Given the description of an element on the screen output the (x, y) to click on. 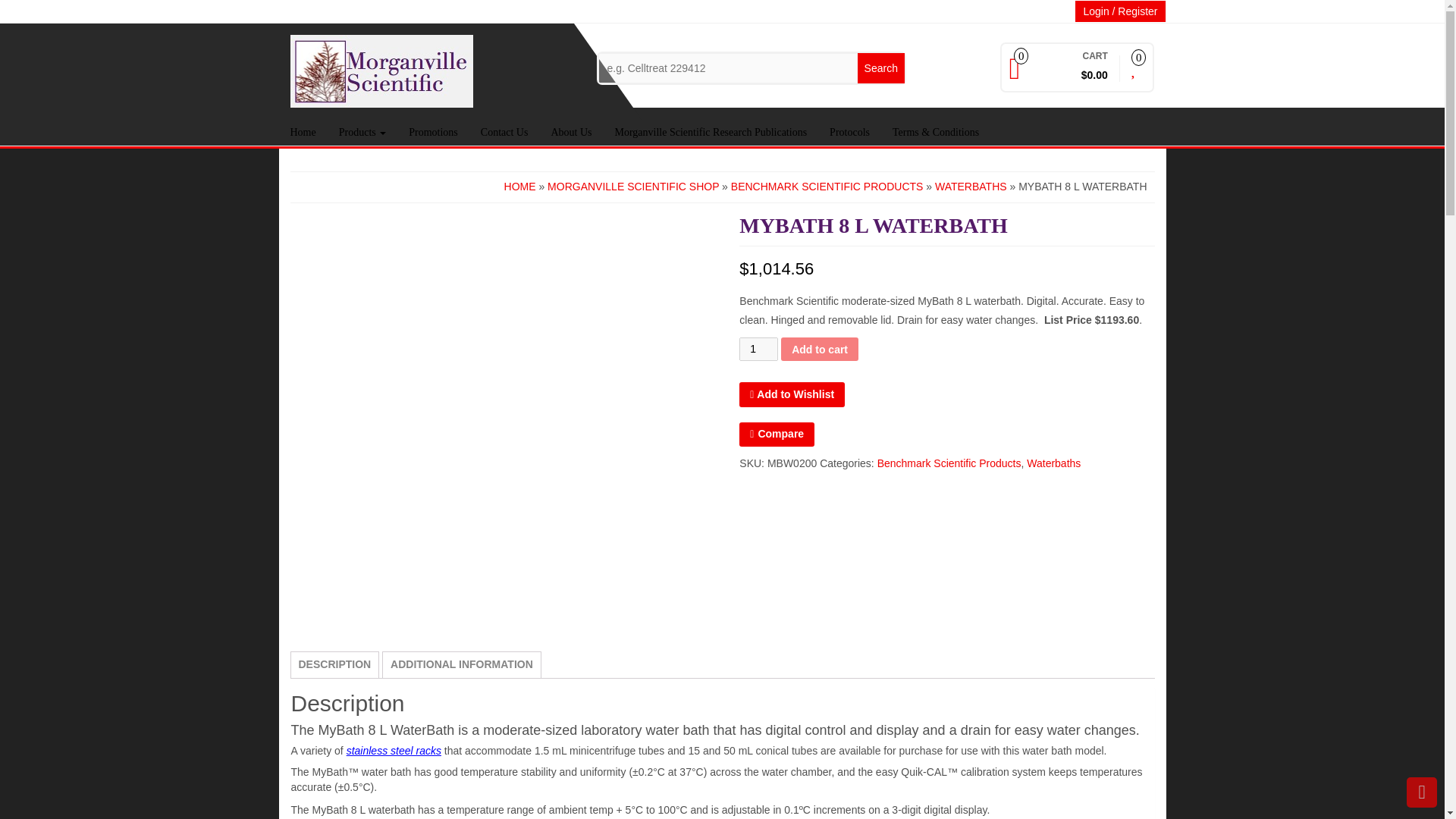
Morganville Scientific (380, 71)
Products (362, 131)
Products (362, 131)
Home (303, 131)
1 (758, 349)
Search (880, 68)
Search (880, 68)
Home (303, 131)
